Given the description of an element on the screen output the (x, y) to click on. 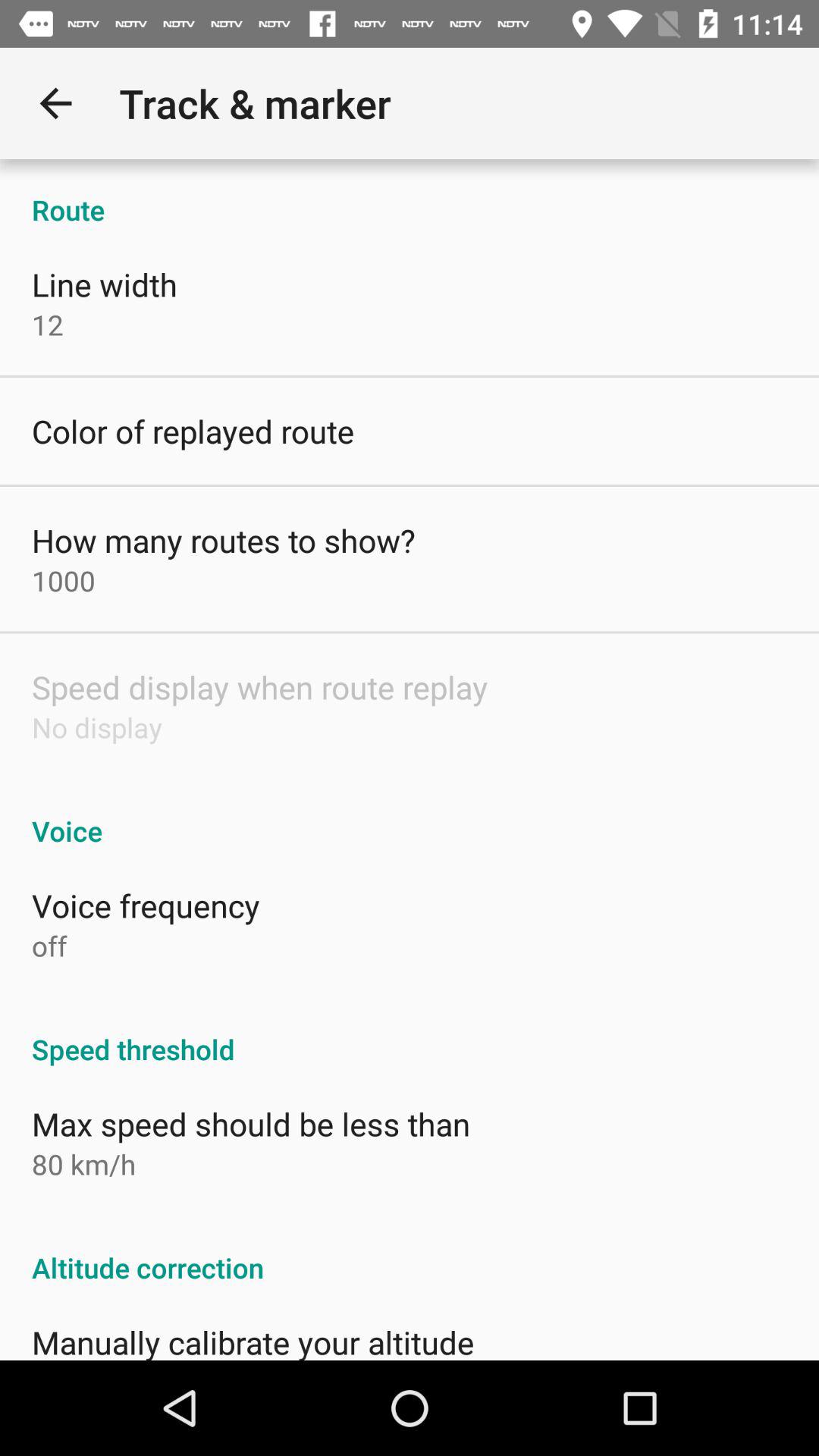
launch line width item (104, 283)
